Given the description of an element on the screen output the (x, y) to click on. 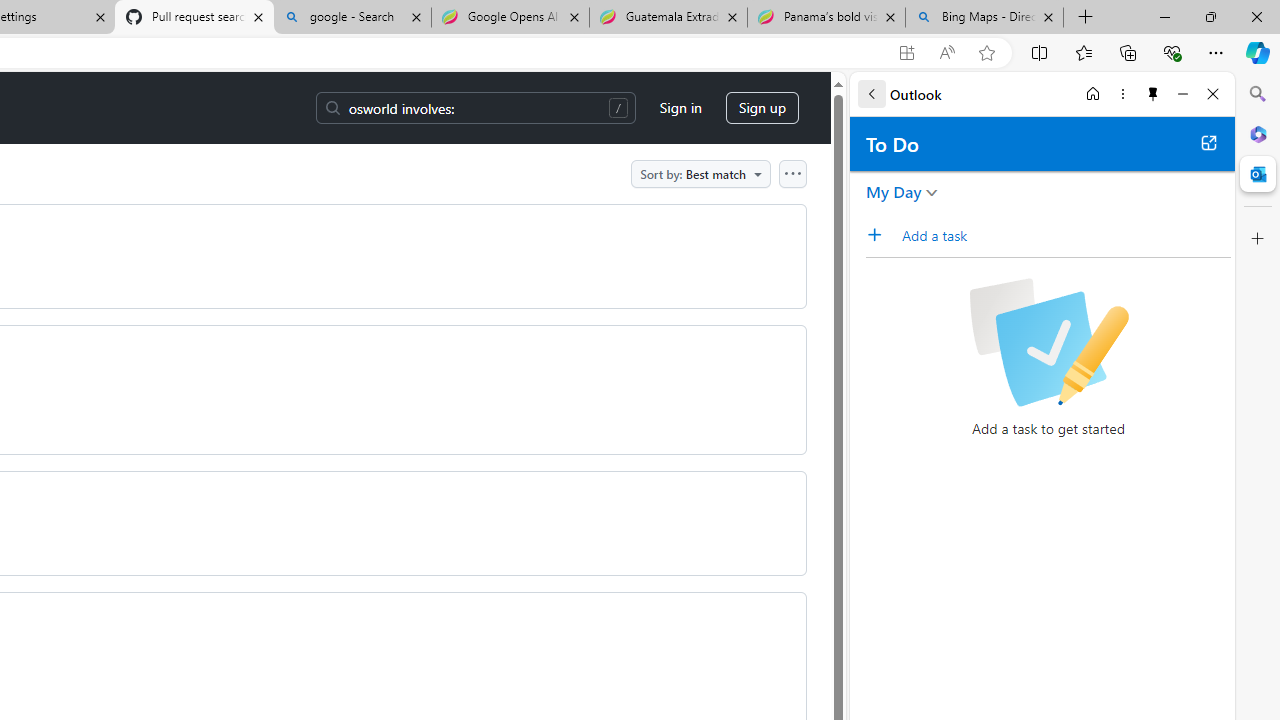
Open column options (792, 173)
google - Search (352, 17)
Open in new tab (1208, 142)
Sign up (761, 107)
Add a task (881, 235)
